Given the description of an element on the screen output the (x, y) to click on. 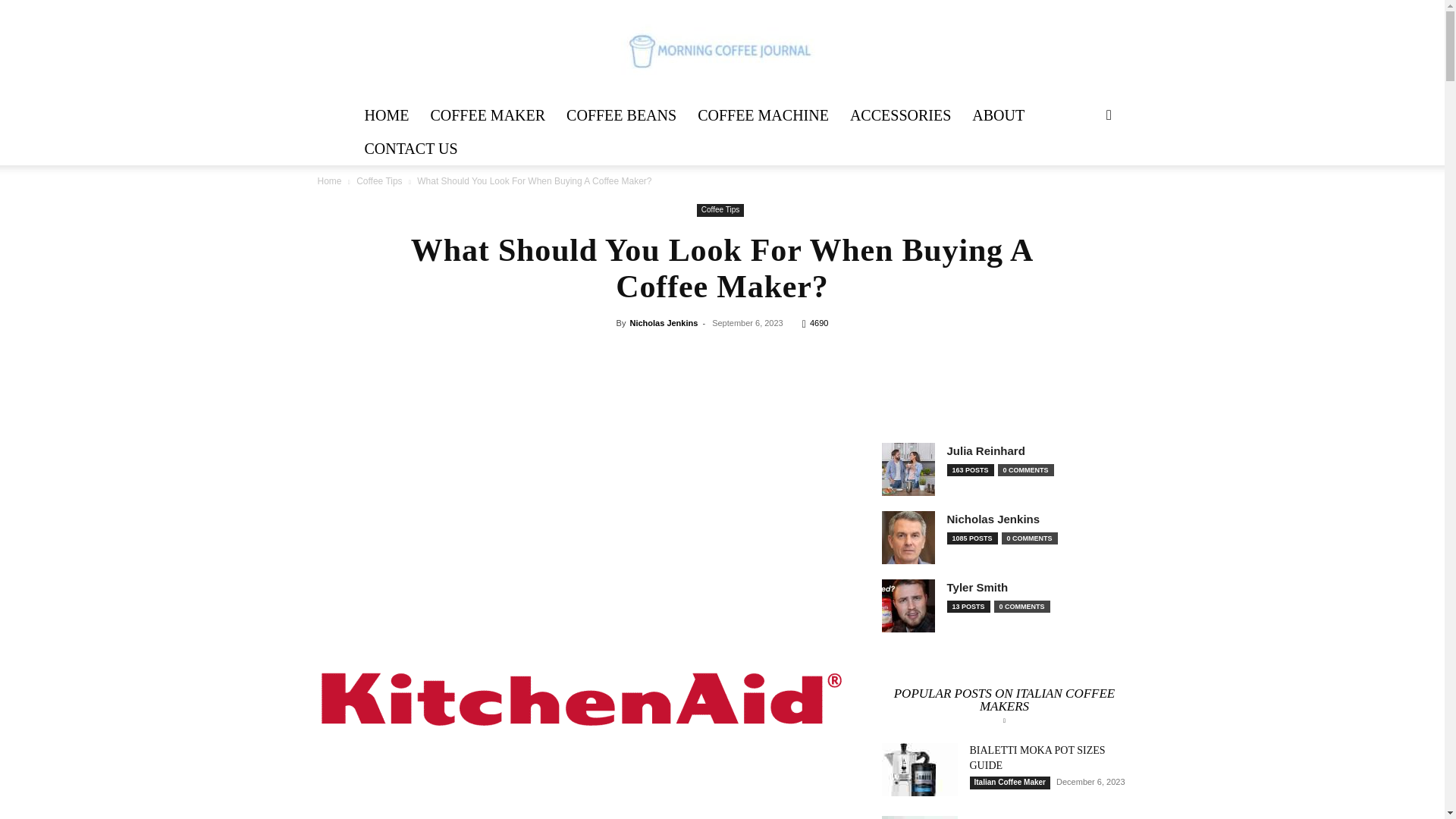
Coffee Tips (720, 210)
topFacebookLike (736, 350)
Nicholas Jenkins (662, 322)
Coffee Tips (378, 181)
COFFEE BEANS (621, 114)
Home (328, 181)
COFFEE MAKER (487, 114)
HOME (386, 114)
CONTACT US (410, 148)
View all posts in Coffee Tips (378, 181)
